Given the description of an element on the screen output the (x, y) to click on. 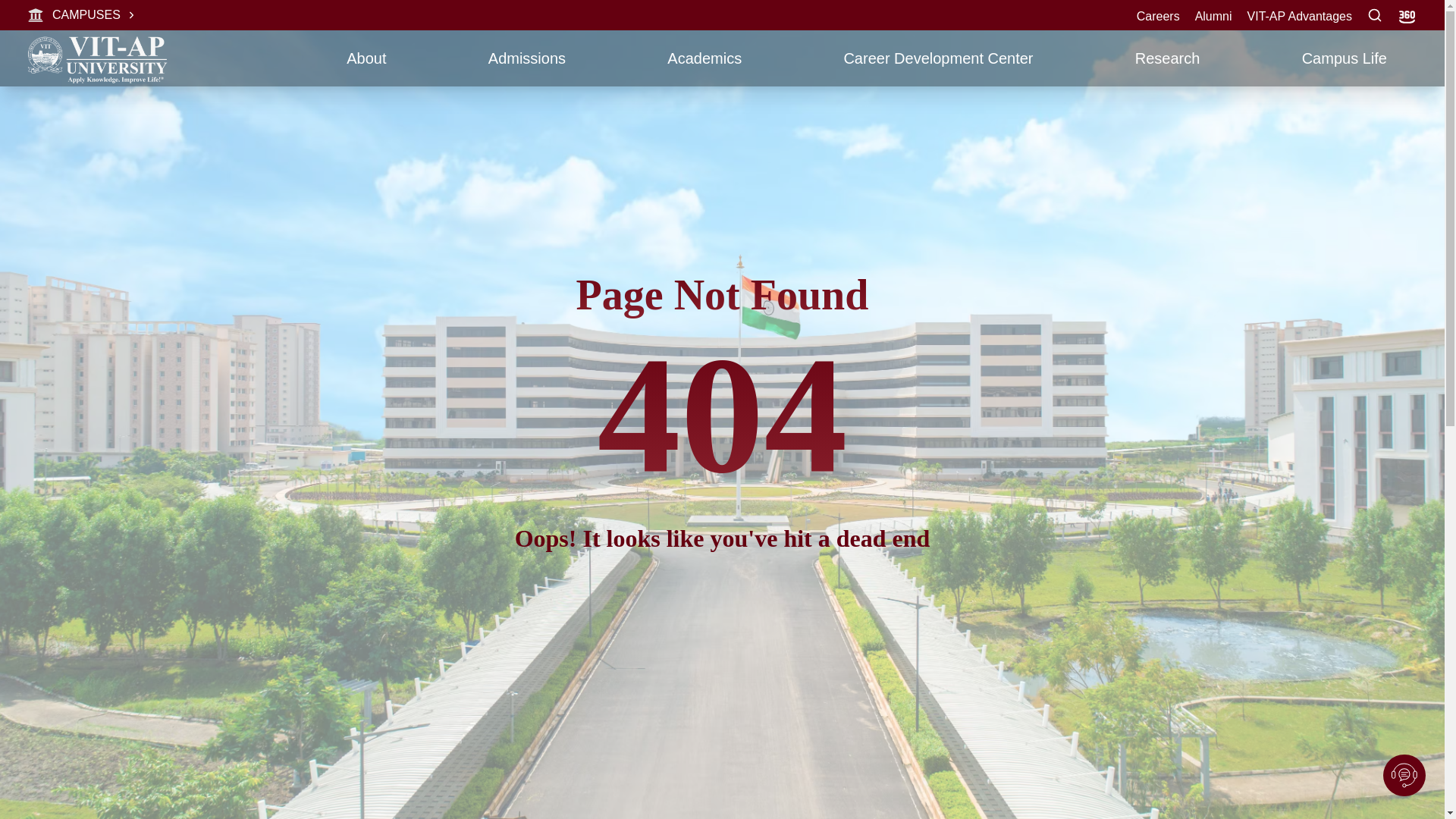
About (365, 60)
Careers (1158, 15)
VIT-AP Advantages (1299, 15)
Admissions (526, 60)
Alumni (1213, 15)
